Given the description of an element on the screen output the (x, y) to click on. 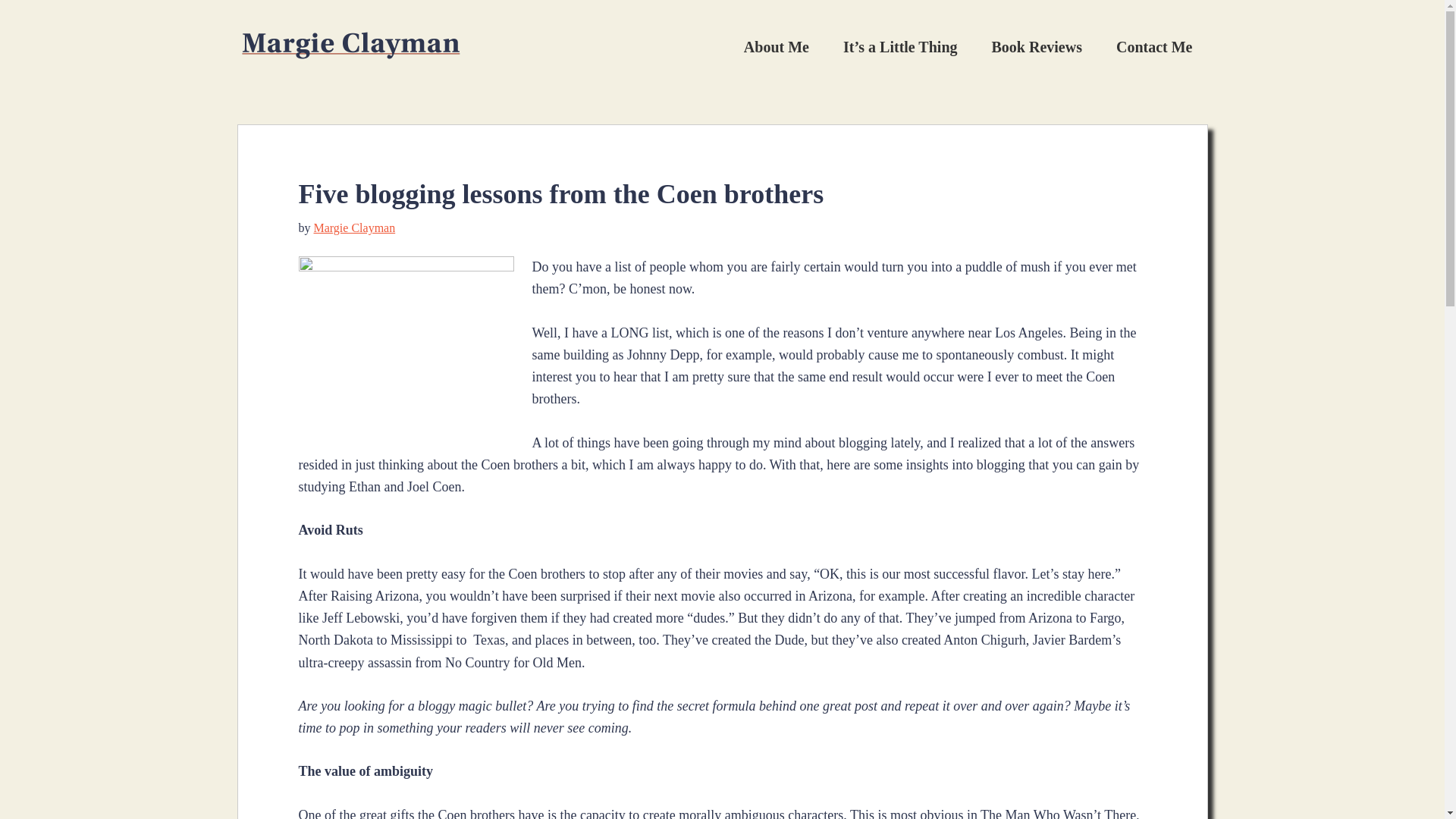
About Me (776, 46)
The Coen Brothers (405, 337)
Book Reviews (1036, 46)
Contact Me (1154, 46)
Margie Clayman (355, 227)
